Given the description of an element on the screen output the (x, y) to click on. 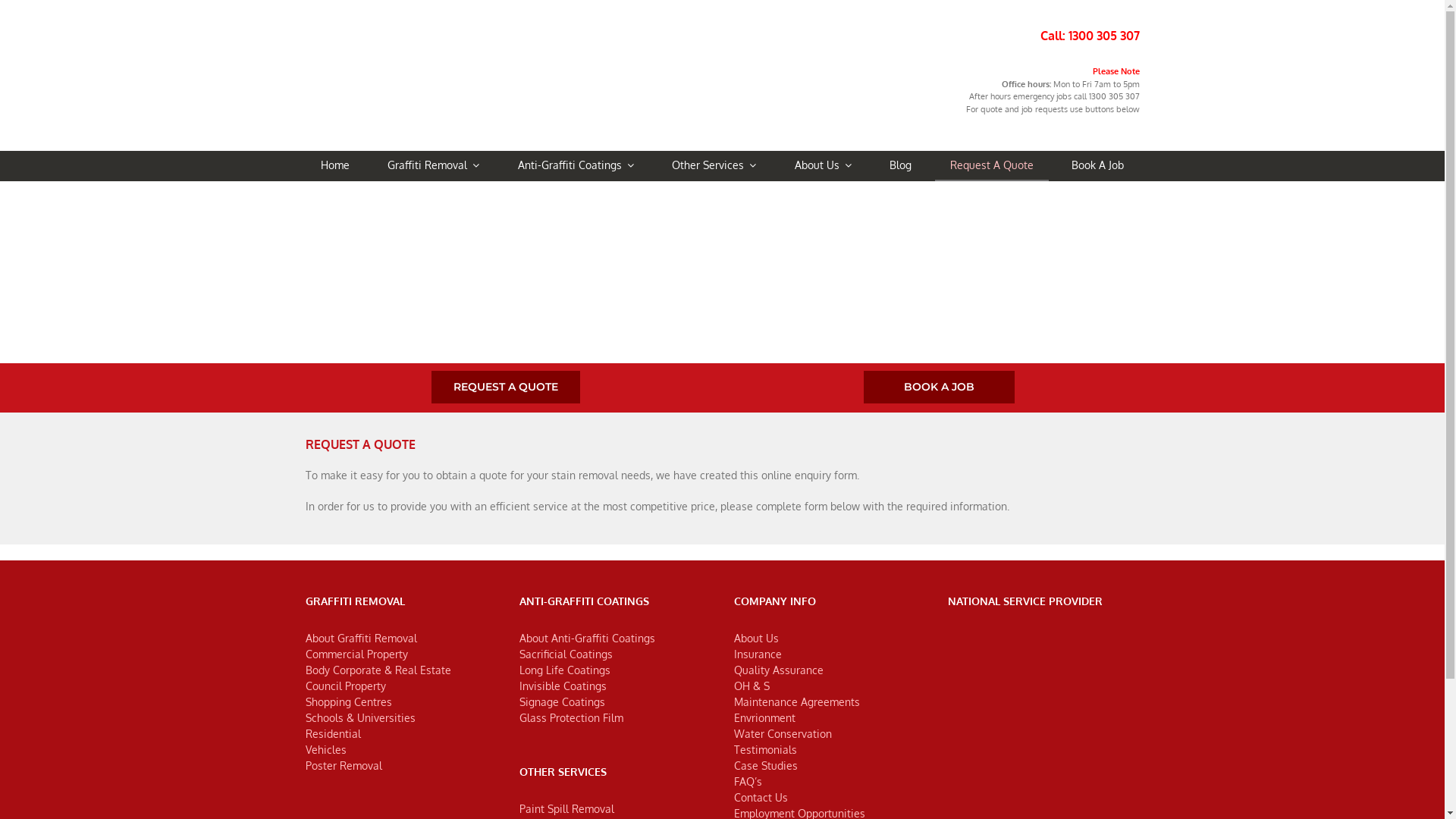
Vehicles Element type: text (324, 749)
Testimonials Element type: text (765, 749)
Quality Assurance Element type: text (778, 669)
Paint Spill Removal Element type: text (566, 808)
Insurance Element type: text (757, 653)
Body Corporate & Real Estate Element type: text (377, 669)
Sacrificial Coatings Element type: text (565, 653)
Water Conservation Element type: text (782, 733)
About Graffiti Removal Element type: text (360, 637)
About Anti-Graffiti Coatings Element type: text (587, 637)
About Us Element type: text (756, 637)
Signage Coatings Element type: text (562, 701)
REQUEST A QUOTE Element type: text (504, 386)
Maintenance Agreements Element type: text (796, 701)
Invisible Coatings Element type: text (562, 685)
About Us Element type: text (822, 165)
Blog Element type: text (900, 165)
Commercial Property Element type: text (355, 653)
Poster Removal Element type: text (342, 765)
BOOK A JOB Element type: text (938, 386)
Graffiti Removal Element type: text (433, 165)
Book A Job Element type: text (1097, 165)
OH & S Element type: text (751, 685)
Envrionment Element type: text (764, 717)
box-quotes-quote-request Element type: hover (448, 272)
Schools & Universities Element type: text (359, 717)
Contact Us Element type: text (760, 796)
Case Studies Element type: text (765, 765)
Long Life Coatings Element type: text (564, 669)
Council Property Element type: text (344, 685)
Home Element type: text (334, 165)
Glass Protection Film Element type: text (571, 717)
Other Services Element type: text (713, 165)
Residential Element type: text (332, 733)
Request A Quote Element type: text (991, 165)
Shopping Centres Element type: text (347, 701)
Anti-Graffiti Coatings Element type: text (575, 165)
